Given the description of an element on the screen output the (x, y) to click on. 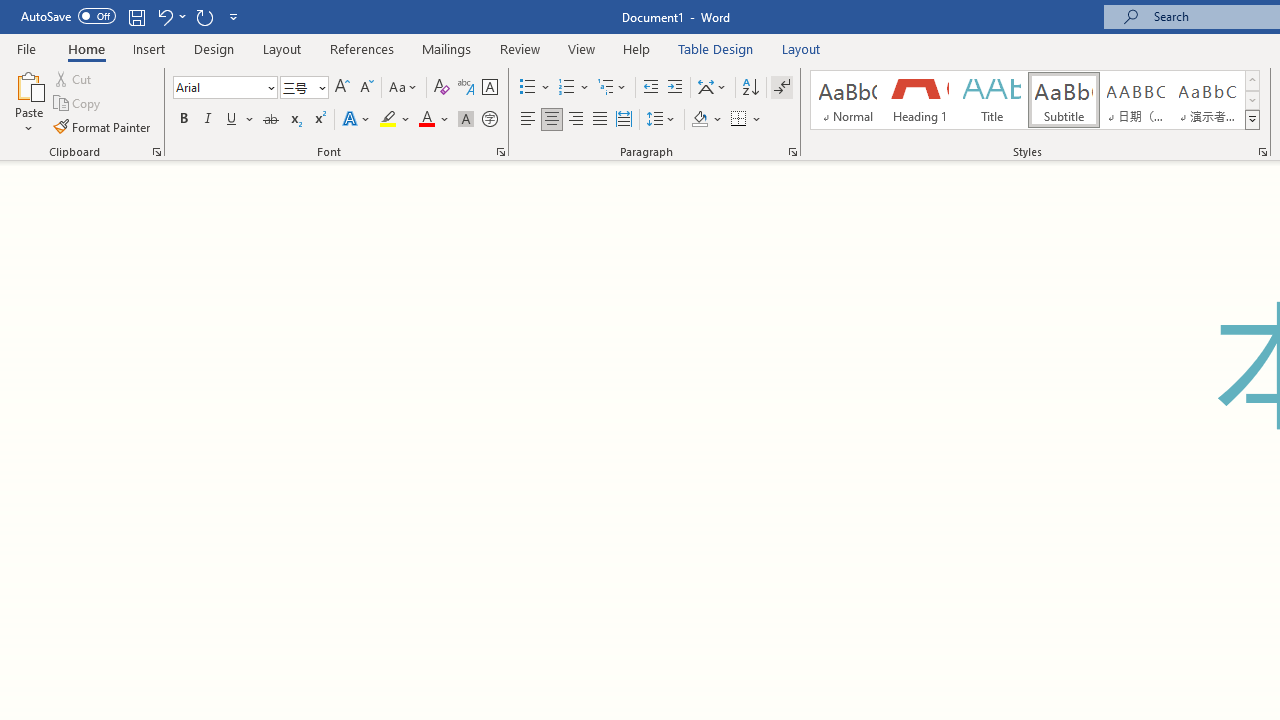
Subtitle (1063, 100)
AutomationID: QuickStylesGallery (1035, 99)
